Given the description of an element on the screen output the (x, y) to click on. 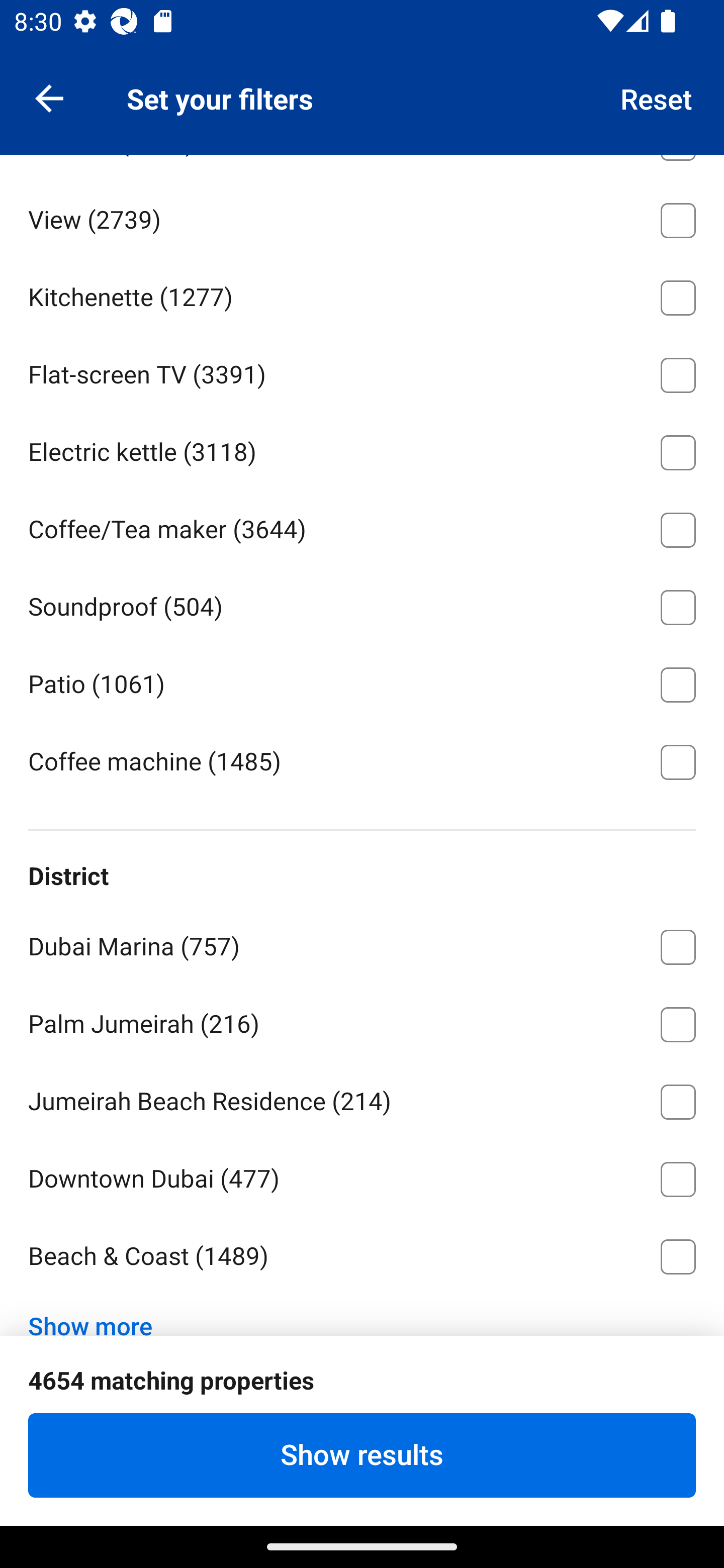
Navigate up (49, 97)
Reset (656, 97)
View ⁦(2739) (361, 216)
Kitchenette ⁦(1277) (361, 293)
Flat-screen TV ⁦(3391) (361, 371)
Electric kettle ⁦(3118) (361, 448)
Coffee/Tea maker ⁦(3644) (361, 526)
Soundproof ⁦(504) (361, 604)
Patio ⁦(1061) (361, 680)
Coffee machine ⁦(1485) (361, 760)
Dubai Marina ⁦(757) (361, 943)
Palm Jumeirah ⁦(216) (361, 1021)
Jumeirah Beach Residence ⁦(214) (361, 1097)
Downtown Dubai ⁦(477) (361, 1175)
Beach & Coast ⁦(1489) (361, 1257)
Show more (97, 1310)
Show results (361, 1454)
